Given the description of an element on the screen output the (x, y) to click on. 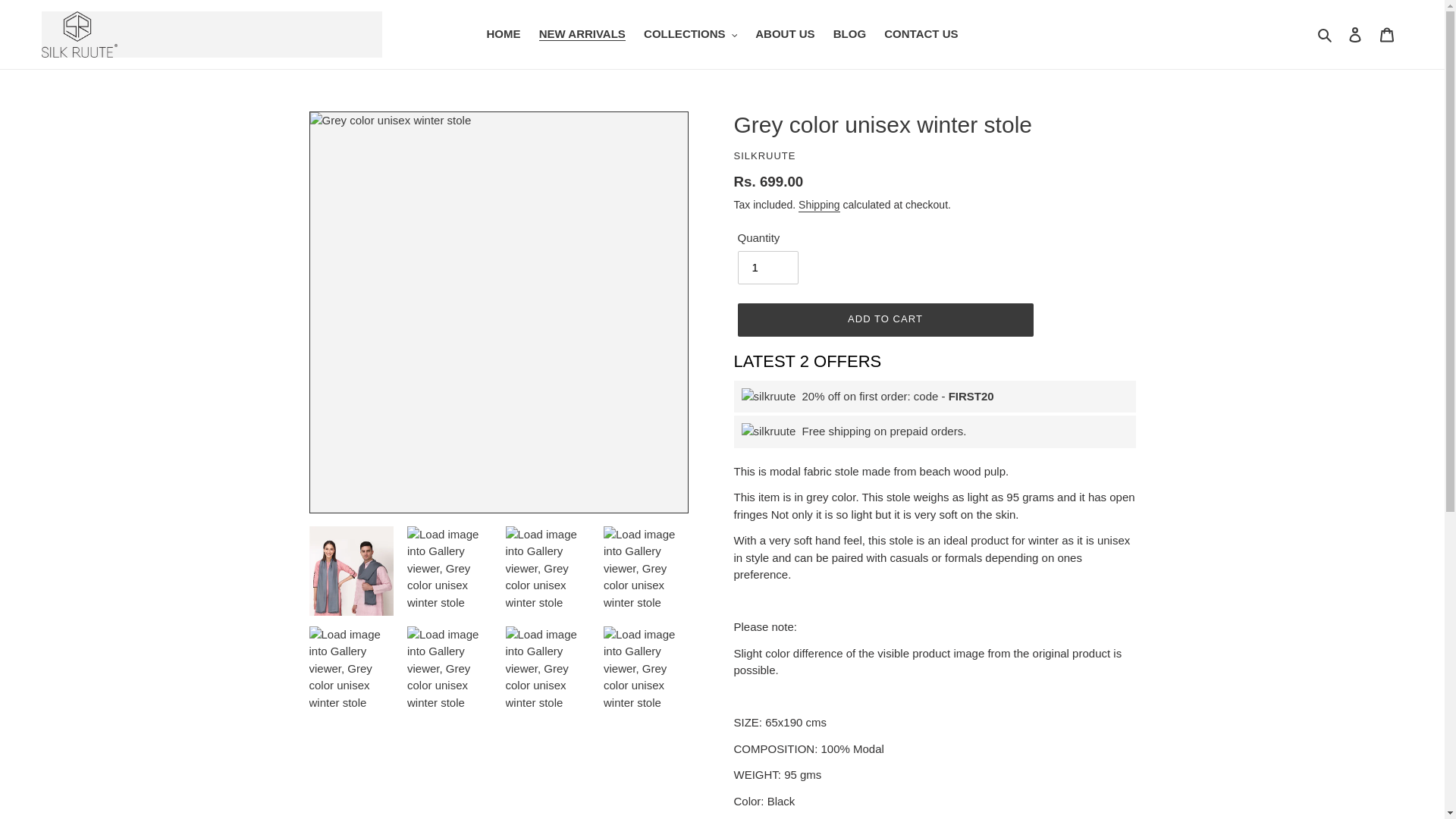
NEW ARRIVALS (582, 34)
COLLECTIONS (690, 34)
CONTACT US (920, 34)
Search (1326, 34)
BLOG (849, 34)
ABOUT US (785, 34)
HOME (503, 34)
Cart (1387, 34)
1 (766, 267)
Log in (1355, 34)
